Given the description of an element on the screen output the (x, y) to click on. 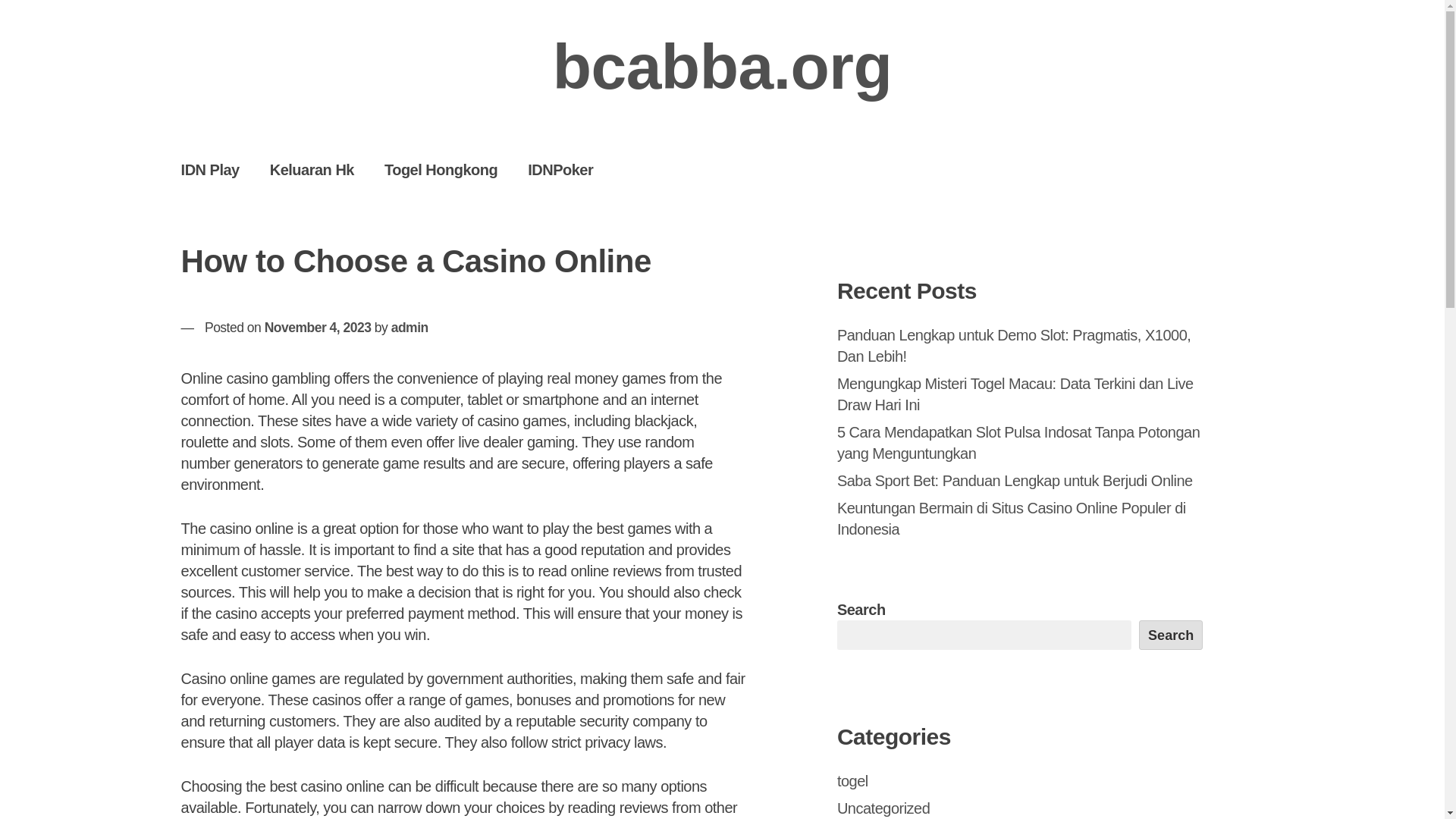
Search (1171, 634)
bcabba.org (722, 66)
Togel Hongkong (440, 169)
IDN Play (209, 169)
togel (852, 781)
admin (409, 327)
Saba Sport Bet: Panduan Lengkap untuk Berjudi Online (1014, 480)
IDNPoker (560, 169)
November 4, 2023 (317, 327)
Uncategorized (883, 808)
Keluaran Hk (311, 169)
